Given the description of an element on the screen output the (x, y) to click on. 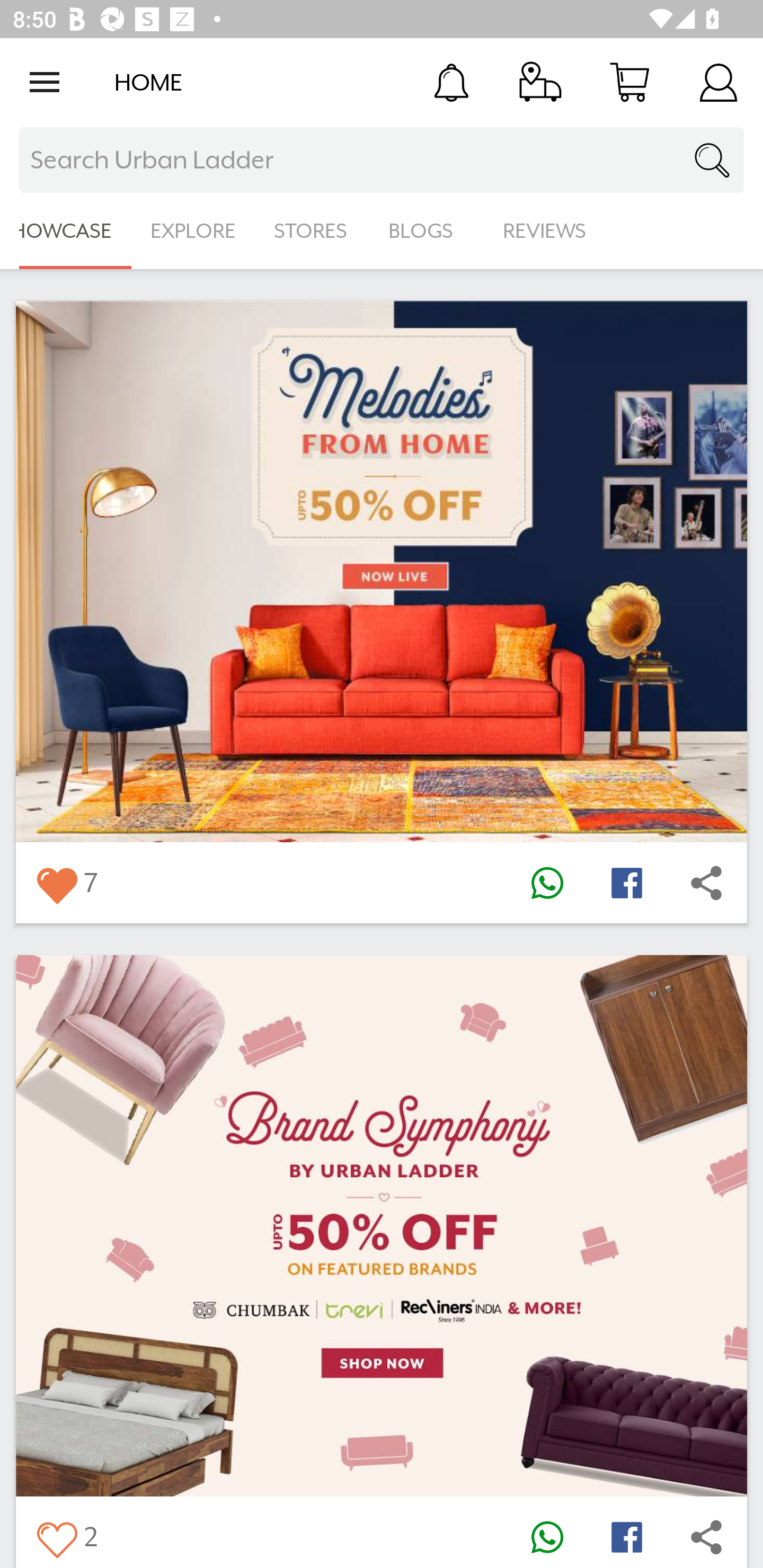
Open navigation drawer (44, 82)
Notification (450, 81)
Track Order (540, 81)
Cart (629, 81)
Account Details (718, 81)
Search Urban Ladder  (381, 159)
SHOWCASE (65, 230)
EXPLORE (192, 230)
STORES (311, 230)
BLOGS (426, 230)
REVIEWS (544, 230)
 (55, 882)
 (547, 882)
 (626, 882)
 (706, 882)
 (55, 1536)
 (547, 1536)
 (626, 1536)
 (706, 1536)
